Given the description of an element on the screen output the (x, y) to click on. 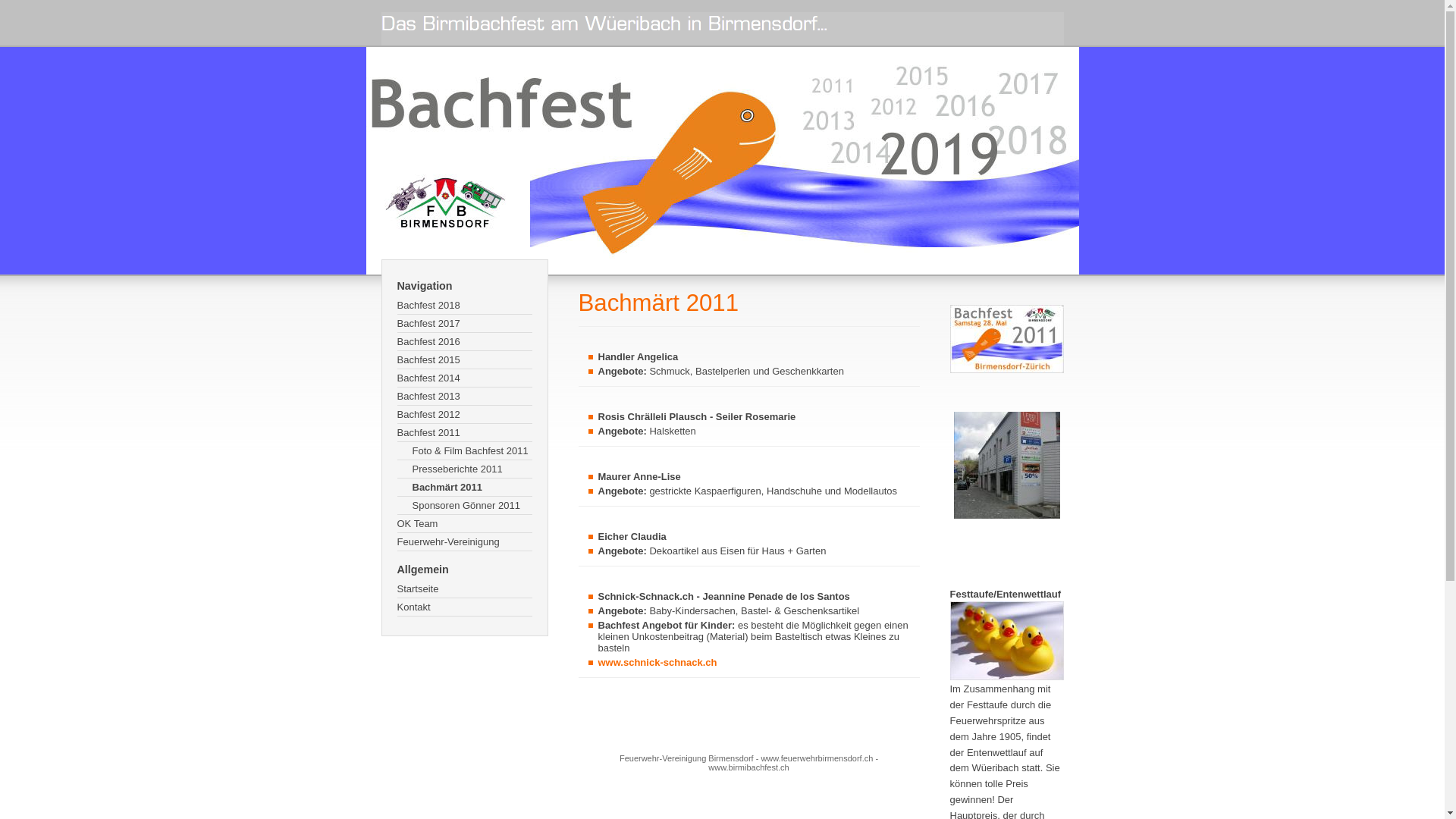
Bachfest 2014 Element type: text (464, 378)
Foto & Film Bachfest 2011 Element type: text (464, 451)
Bachfest 2016 Element type: text (464, 341)
Feuerwehr-Vereinigung Element type: text (464, 542)
Startseite Element type: text (464, 589)
www.schnick-schnack.ch Element type: text (656, 662)
Bachfest 2015 Element type: text (464, 360)
Bachfest 2017 Element type: text (464, 323)
Bachfest 2013 Element type: text (464, 396)
Bachfest 2012 Element type: text (464, 414)
Kontakt Element type: text (464, 607)
OK Team Element type: text (464, 523)
Presseberichte 2011 Element type: text (464, 469)
Bachfest 2011 Element type: text (464, 432)
Bachfest 2018 Element type: text (464, 305)
